Given the description of an element on the screen output the (x, y) to click on. 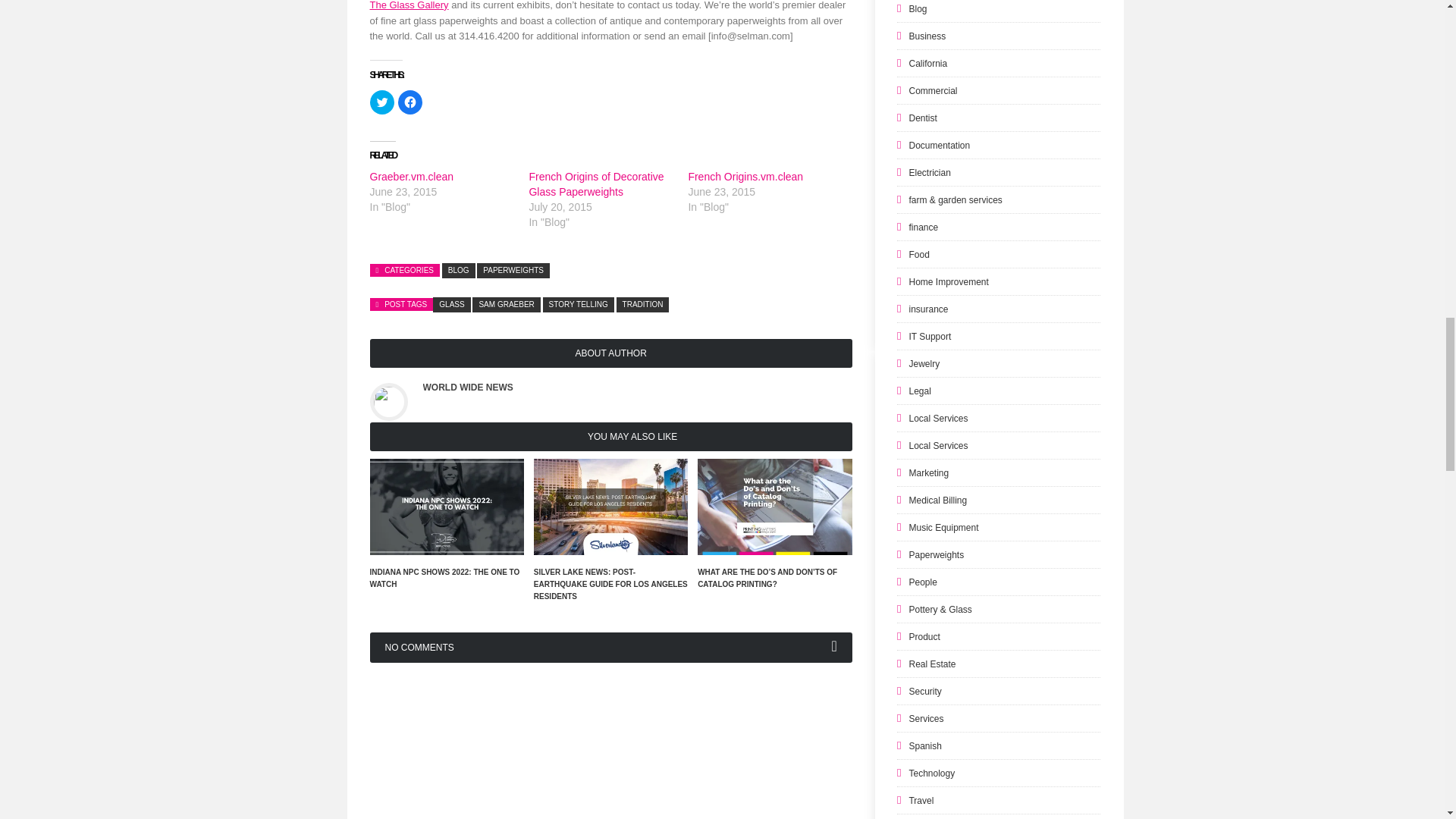
Graeber.vm.clean (411, 176)
Graeber.vm.clean (411, 176)
Click to share on Twitter (381, 102)
French Origins.vm.clean (745, 176)
French Origins.vm.clean (745, 176)
STORY TELLING (578, 304)
GLASS (451, 304)
BLOG (459, 270)
French Origins of Decorative Glass Paperweights (595, 184)
PAPERWEIGHTS (513, 270)
TRADITION (642, 304)
The Glass Gallery (408, 5)
French Origins of Decorative Glass Paperweights (595, 184)
SAM GRAEBER (505, 304)
INDIANA NPC SHOWS 2022: THE ONE TO WATCH (444, 578)
